Given the description of an element on the screen output the (x, y) to click on. 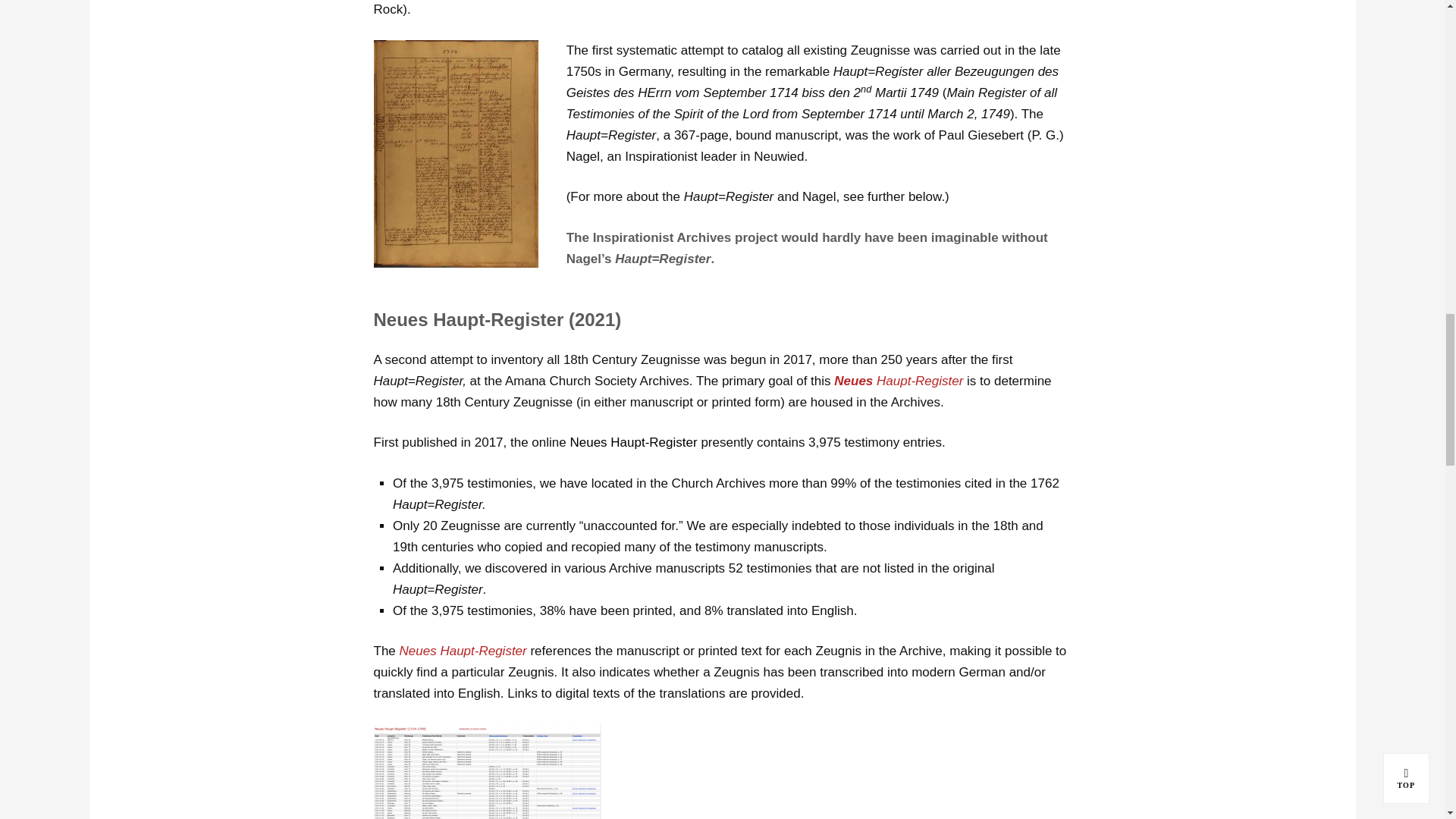
Neues Haupt-Register (462, 650)
Neues Haupt-Register (898, 380)
